Given the description of an element on the screen output the (x, y) to click on. 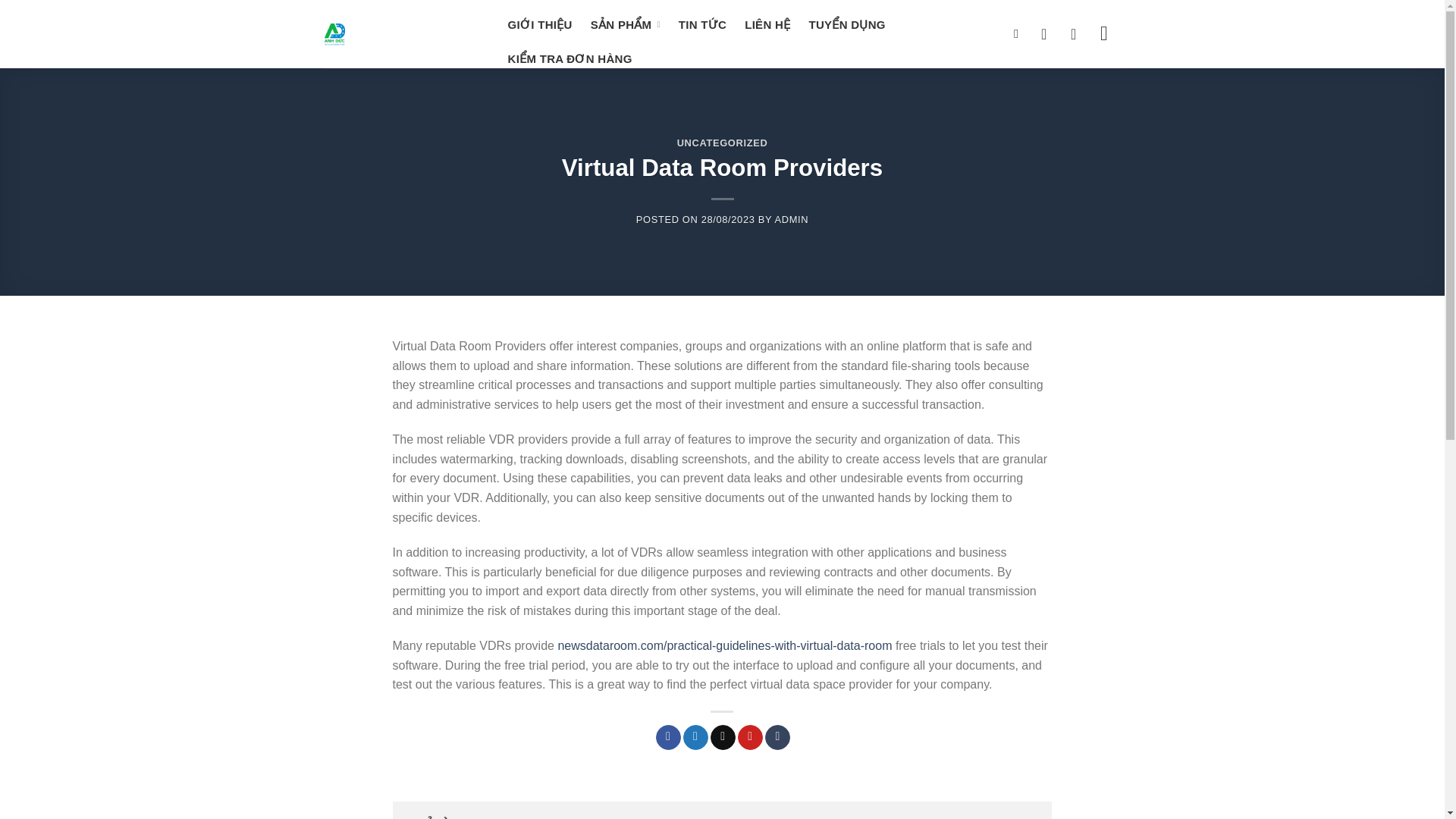
UNCATEGORIZED (722, 142)
ADMIN (791, 219)
